Given the description of an element on the screen output the (x, y) to click on. 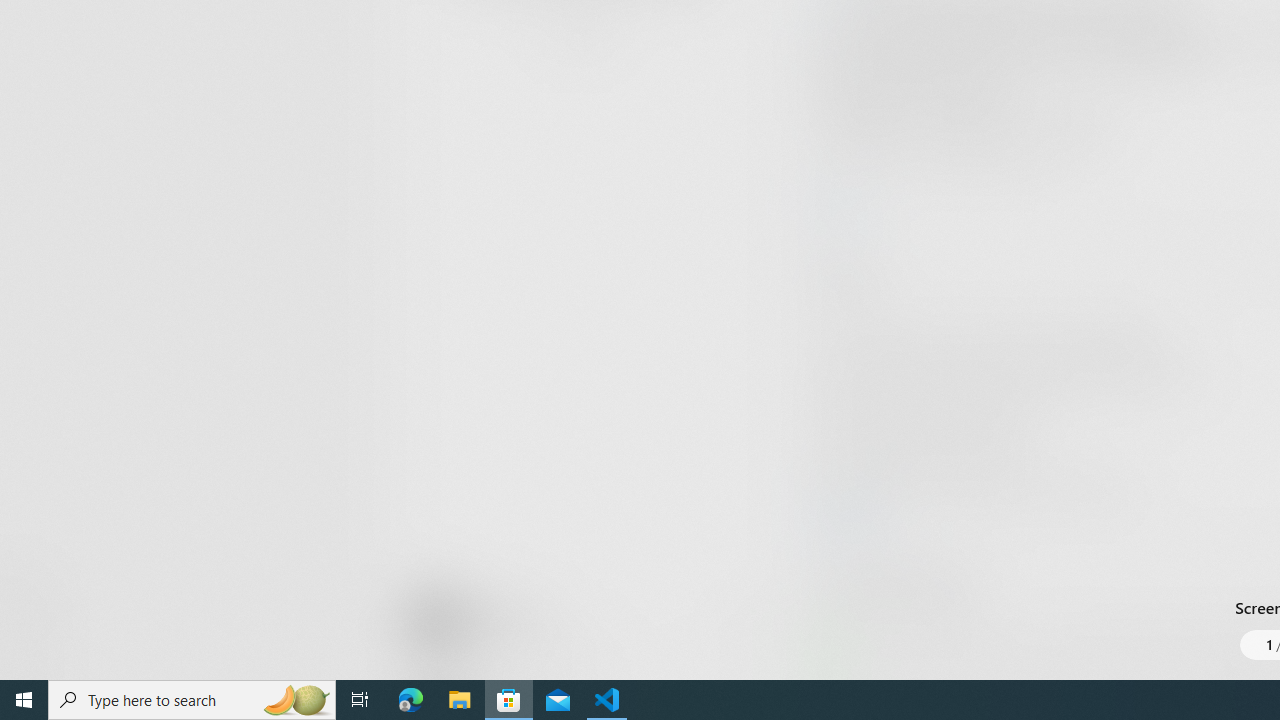
Age rating: EVERYONE. Click for more information. (506, 619)
Share (746, 632)
What's New (35, 578)
Show all ratings and reviews (838, 207)
Show more (854, 674)
Library (35, 640)
Show less (850, 518)
Productivity (579, 30)
